Given the description of an element on the screen output the (x, y) to click on. 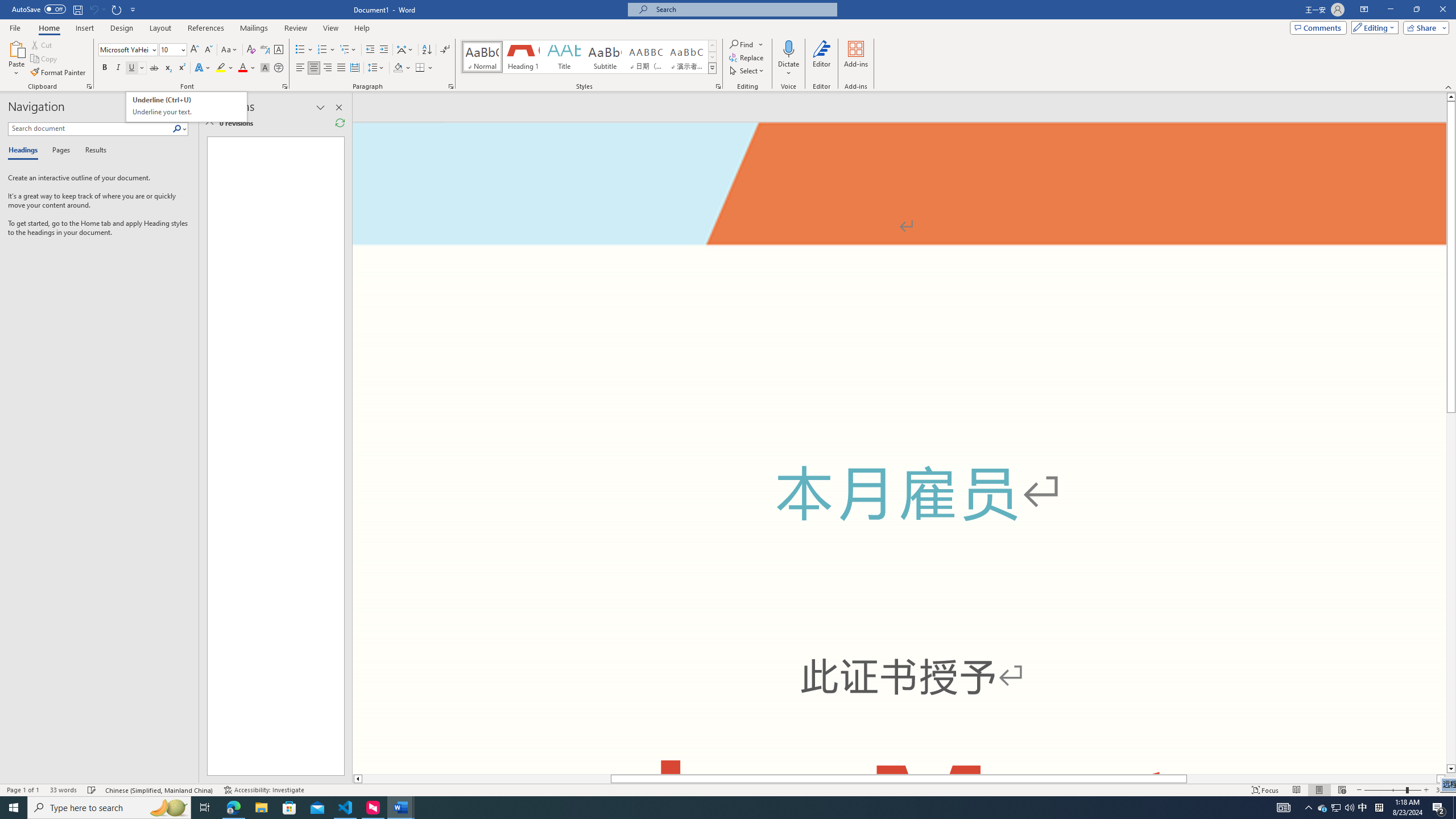
Heading 1 (522, 56)
Zoom 308% (1443, 790)
Column left (357, 778)
Spelling and Grammar Check Checking (91, 790)
